Given the description of an element on the screen output the (x, y) to click on. 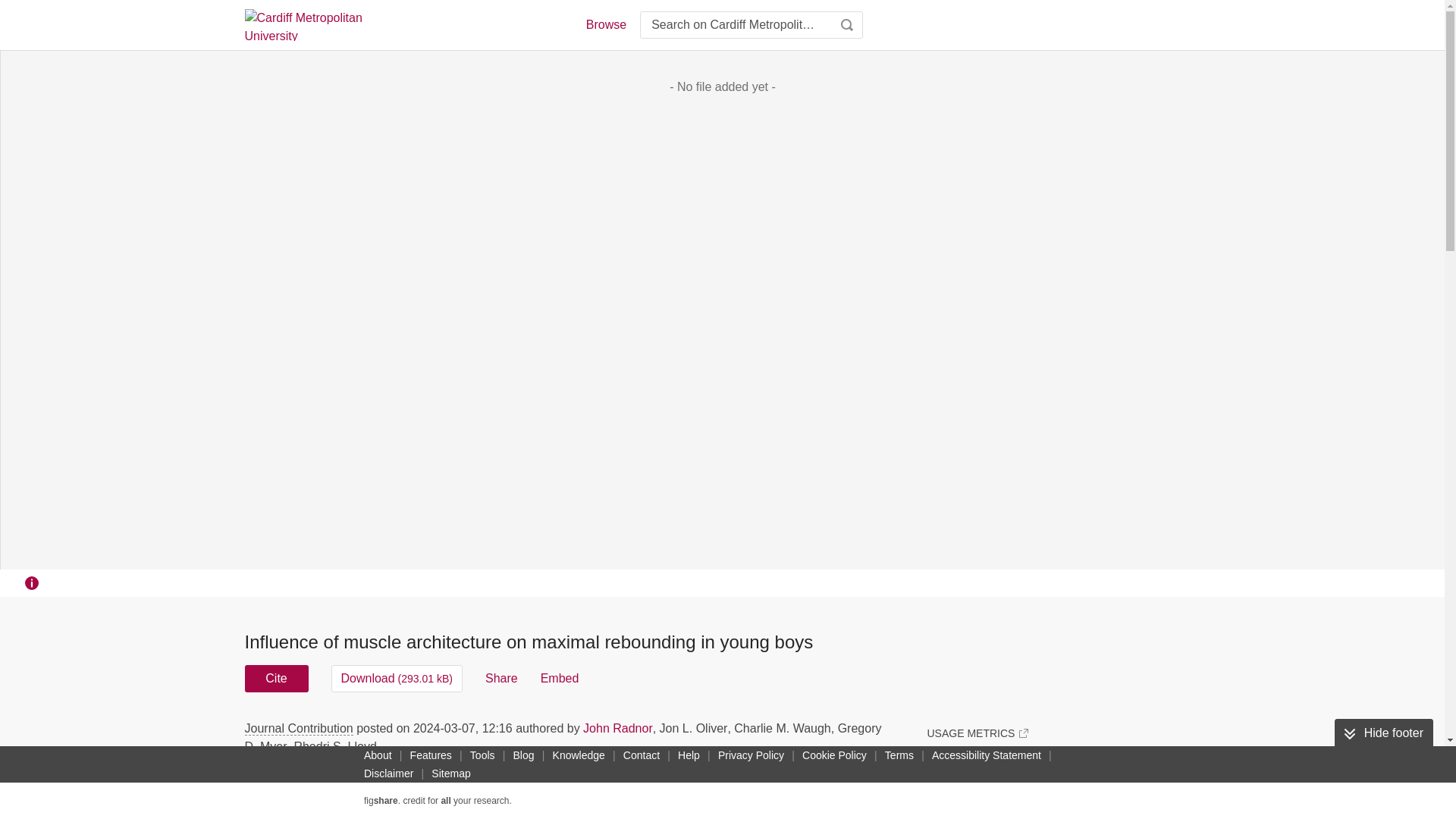
Help (688, 755)
Contact (640, 755)
Features (431, 755)
Cookie Policy (833, 755)
John Radnor (617, 727)
Blog (523, 755)
Tools (482, 755)
Hide footer (1383, 733)
Cite (275, 678)
Browse (605, 24)
